Given the description of an element on the screen output the (x, y) to click on. 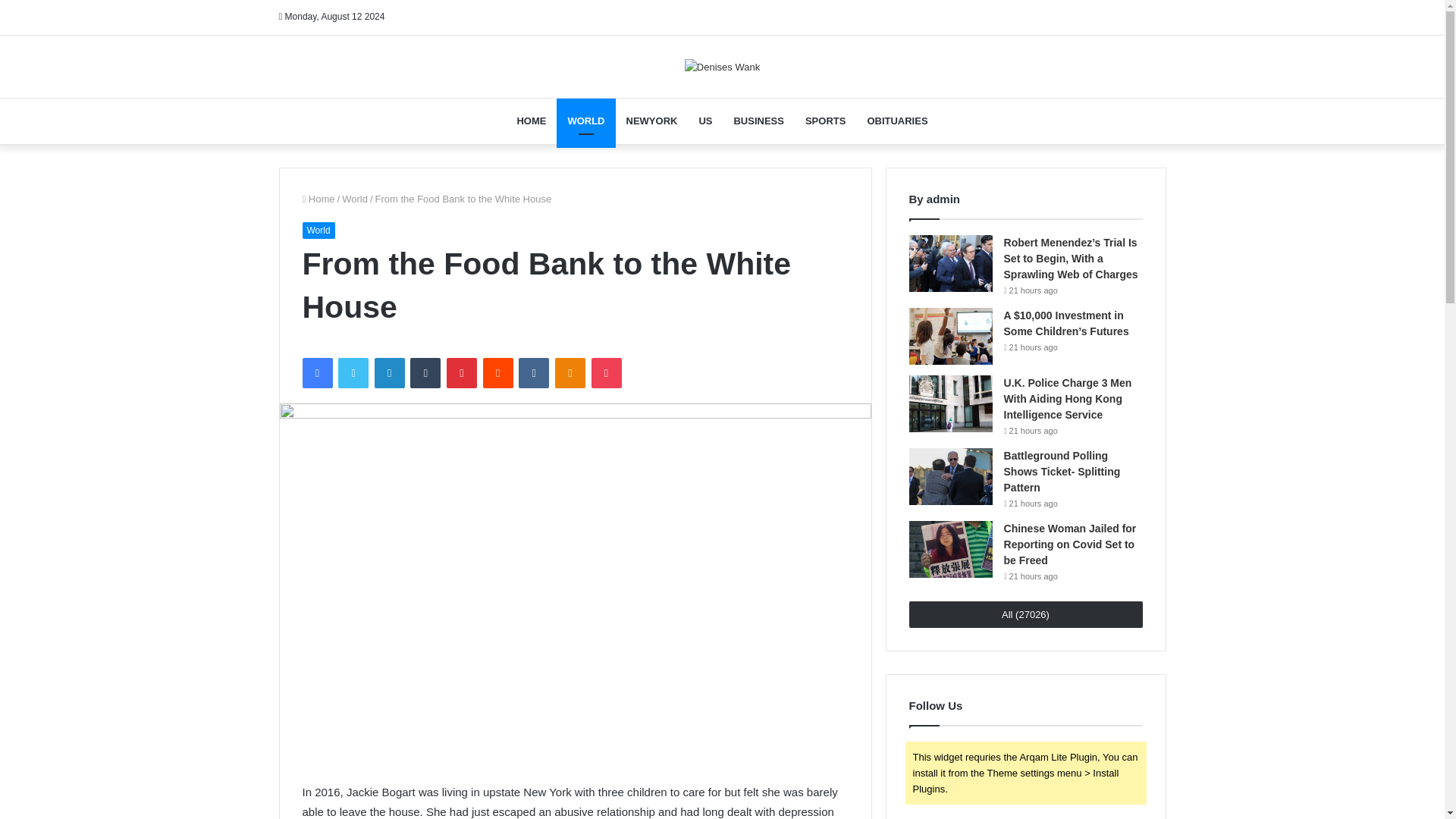
VKontakte (533, 372)
Pocket (606, 372)
LinkedIn (389, 372)
VKontakte (533, 372)
Tumblr (425, 372)
NEWYORK (651, 121)
Reddit (498, 372)
Tumblr (425, 372)
World (355, 198)
Pinterest (461, 372)
